Given the description of an element on the screen output the (x, y) to click on. 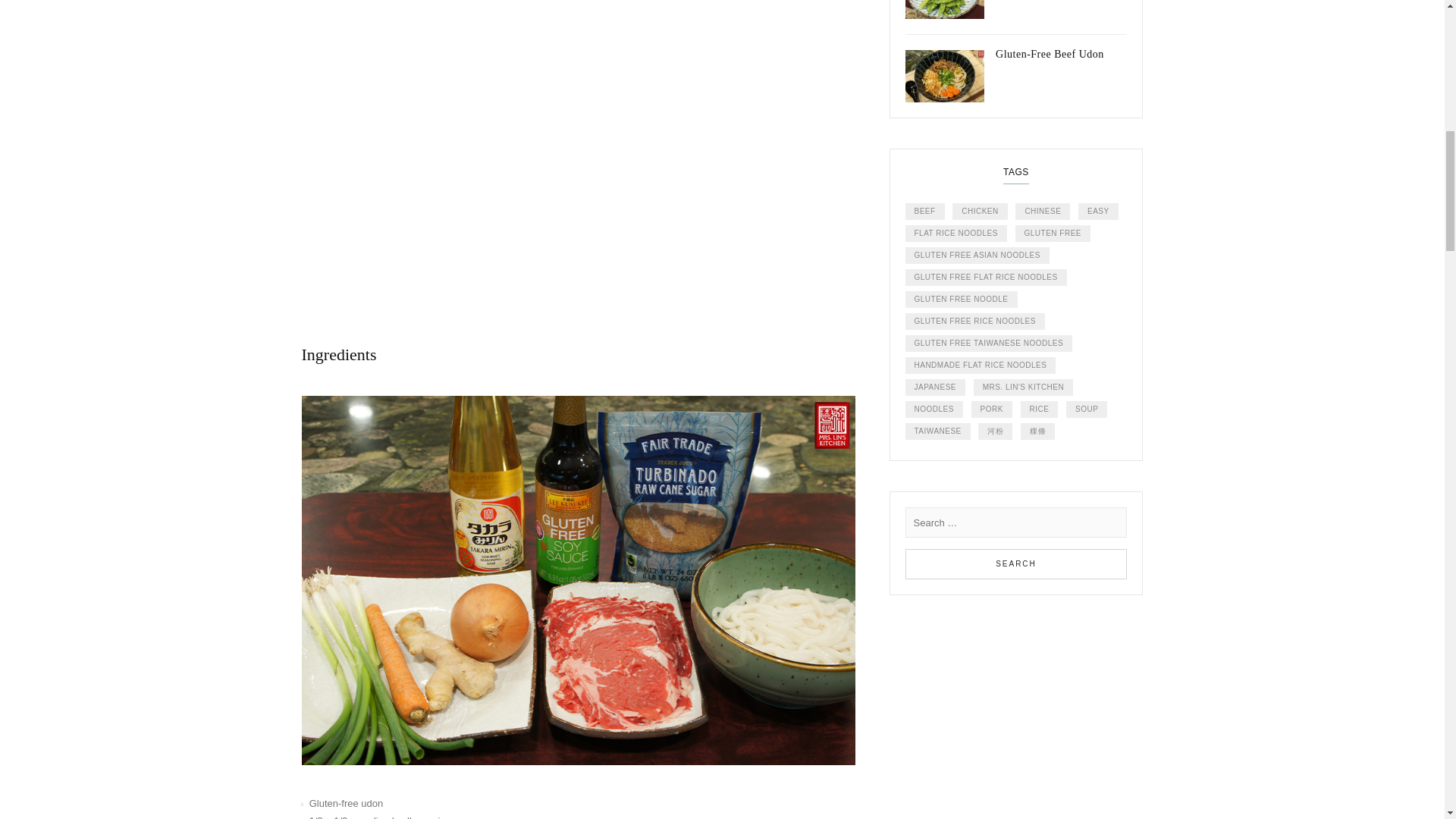
CHICKEN (979, 211)
Search (1015, 563)
Search (1015, 563)
GLUTEN FREE (1052, 233)
GLUTEN FREE ASIAN NOODLES (977, 255)
BEEF (924, 211)
FLAT RICE NOODLES (956, 233)
EASY (1098, 211)
CHINESE (1042, 211)
Garlicky Edamame (1015, 17)
Gluten-Free Beef Udon (1015, 69)
